Given the description of an element on the screen output the (x, y) to click on. 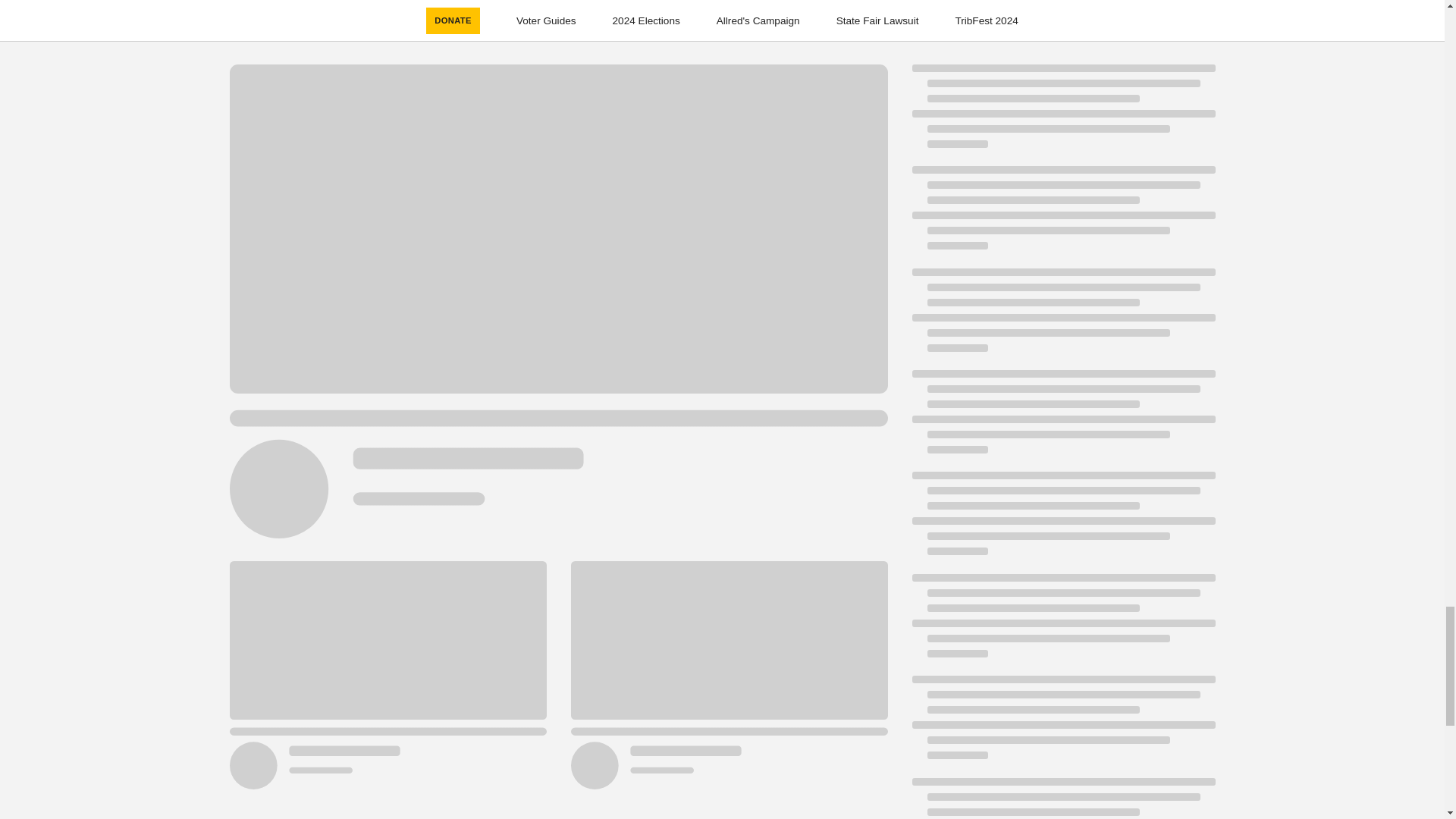
Loading indicator (1062, 317)
Loading indicator (1062, 215)
Loading indicator (1062, 724)
Loading indicator (1062, 419)
Loading indicator (1062, 623)
Loading indicator (1062, 520)
Loading indicator (1062, 113)
Loading indicator (1062, 798)
